Given the description of an element on the screen output the (x, y) to click on. 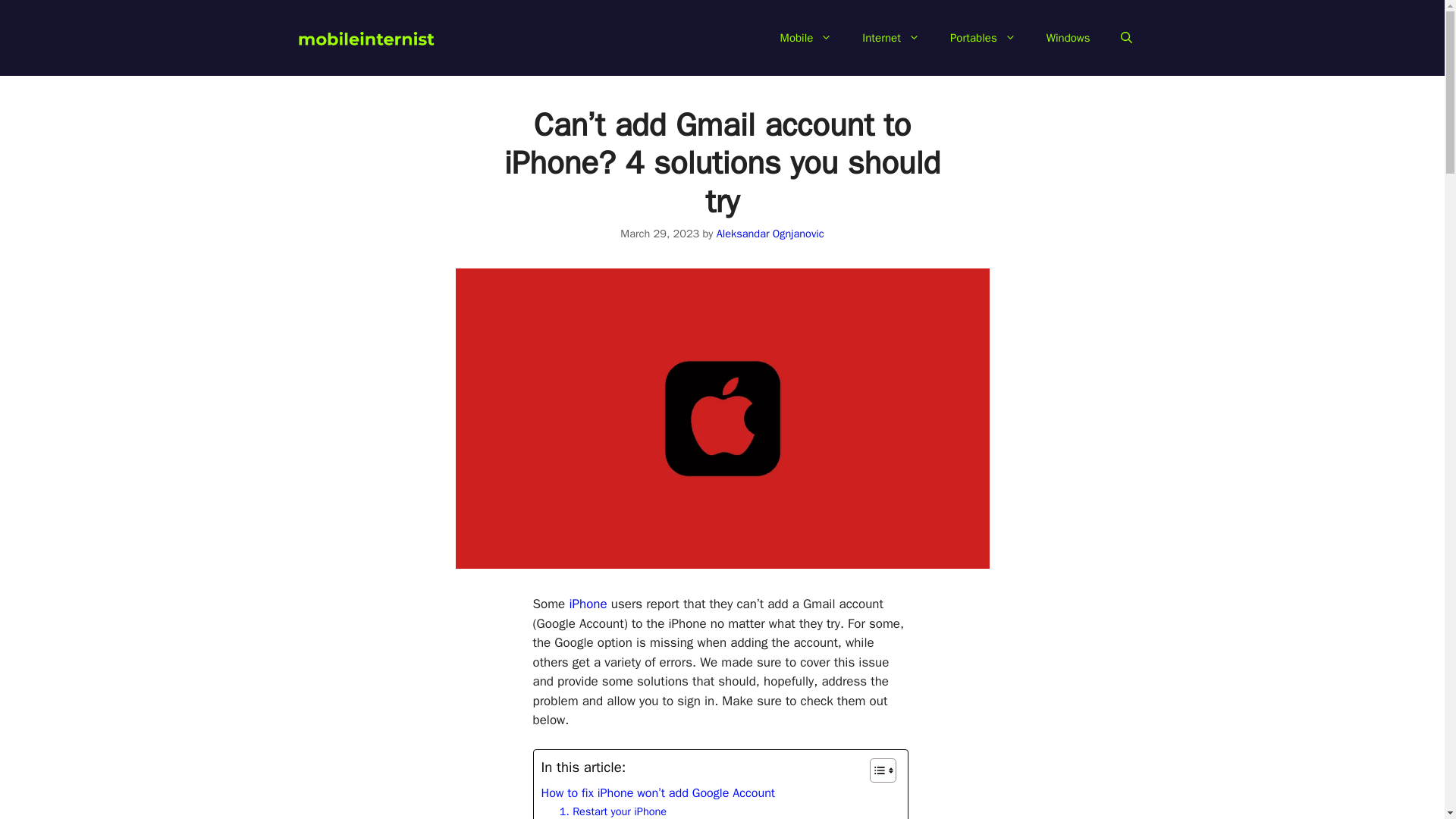
Mobile (806, 37)
1. Restart your iPhone (612, 811)
Aleksandar Ognjanovic (770, 233)
1. Restart your iPhone (612, 811)
View all posts by Aleksandar Ognjanovic (770, 233)
Internet (890, 37)
Windows (1067, 37)
iPhone (588, 603)
Portables (982, 37)
